Given the description of an element on the screen output the (x, y) to click on. 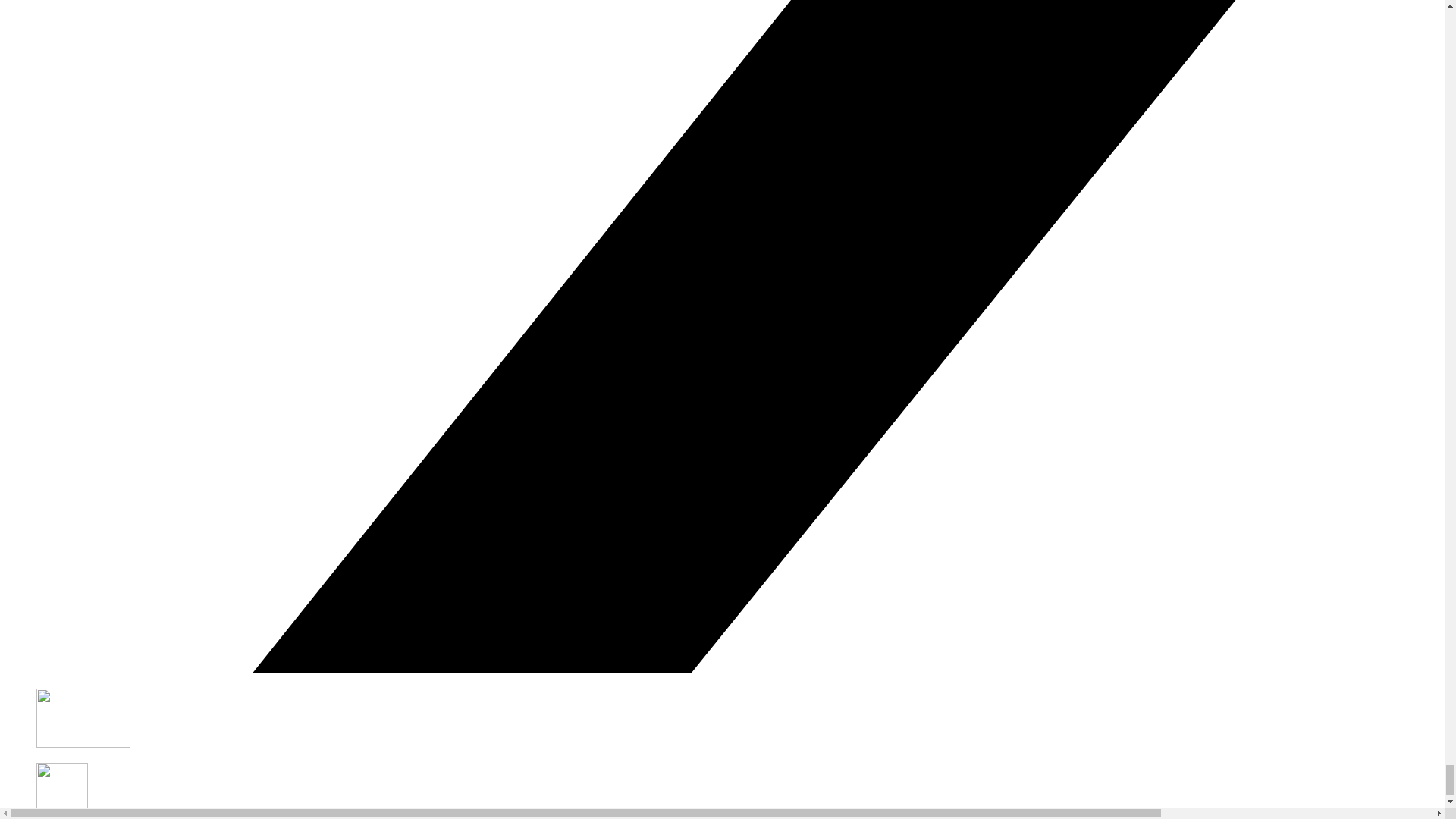
FIR-Solution-Group (83, 743)
FIR-Solution-Group (83, 717)
